Given the description of an element on the screen output the (x, y) to click on. 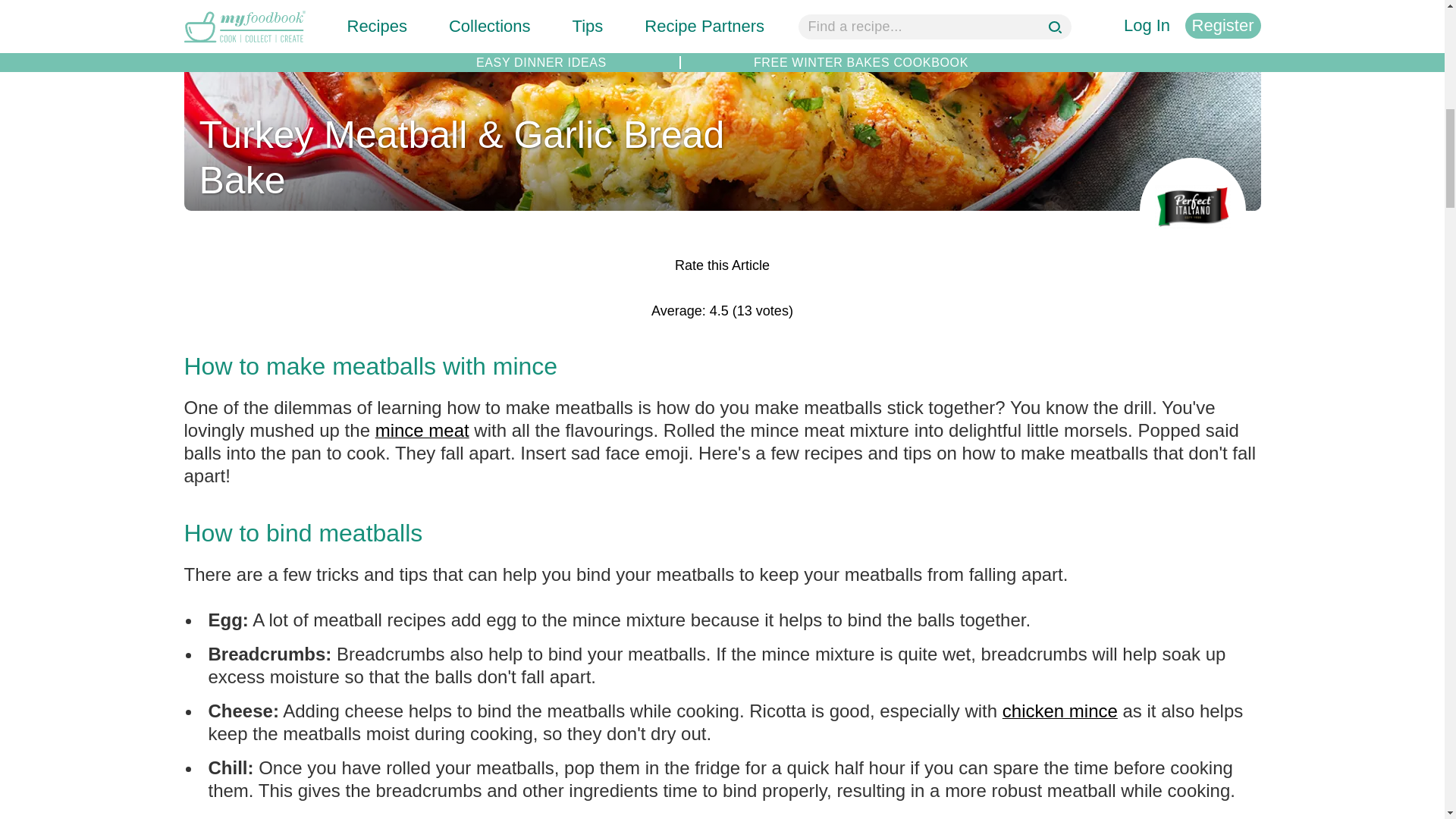
chicken mince (1060, 711)
mince meat (421, 430)
mince meat (421, 430)
chicken mince (1060, 711)
